Given the description of an element on the screen output the (x, y) to click on. 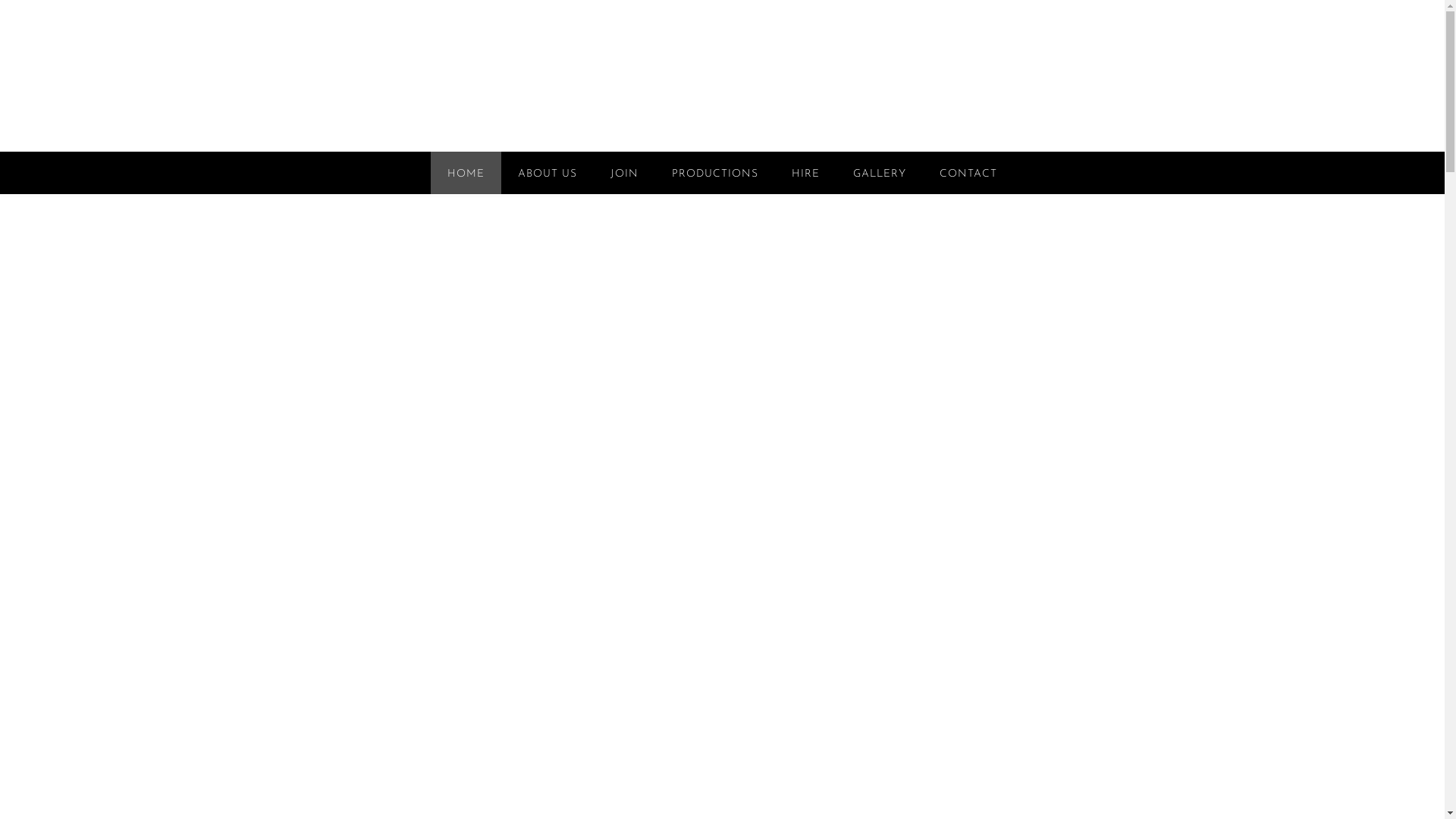
CONTACT Element type: text (967, 172)
ABOUT US Element type: text (547, 172)
HOME Element type: text (465, 172)
HIRE Element type: text (805, 172)
JOIN Element type: text (624, 172)
PRODUCTIONS Element type: text (715, 172)
GALLERY Element type: text (879, 172)
